Given the description of an element on the screen output the (x, y) to click on. 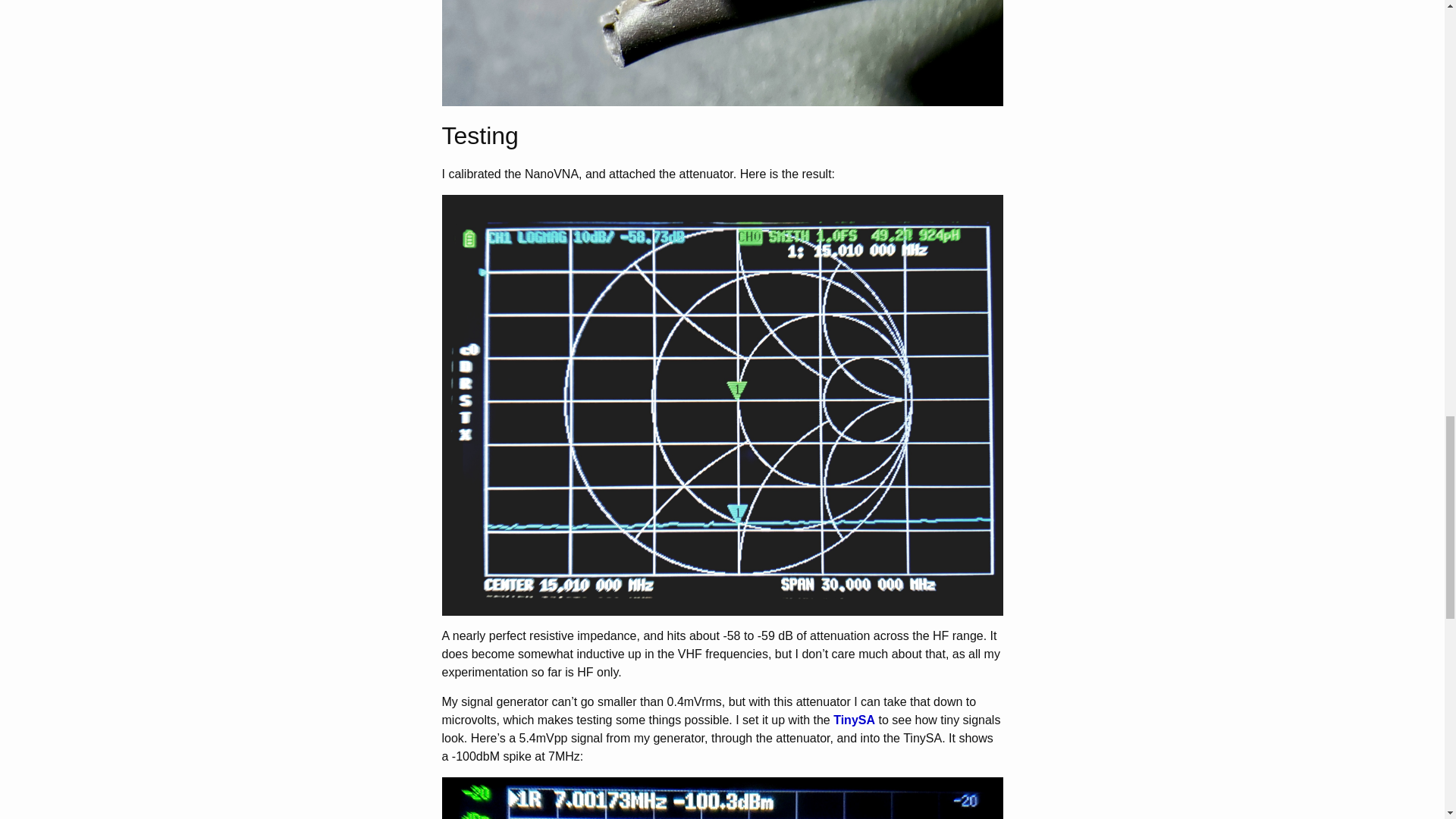
TinySA (853, 719)
